Given the description of an element on the screen output the (x, y) to click on. 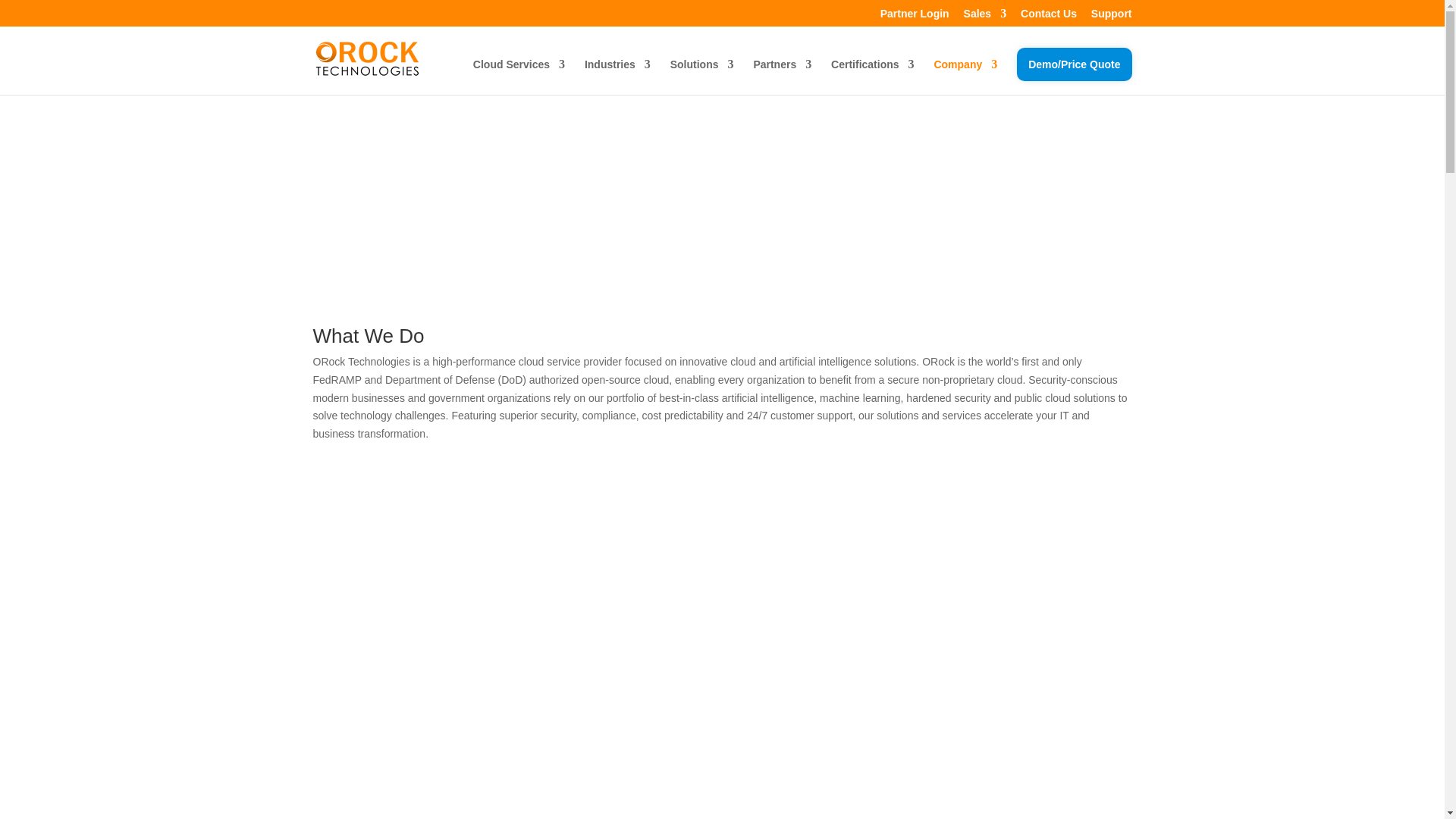
Partner Login (914, 16)
Support (1111, 16)
Company (965, 76)
Certifications (872, 76)
Industries (617, 76)
Contact Us (1048, 16)
Sales (985, 16)
Cloud Services (518, 76)
Solutions (701, 76)
Partners (781, 76)
